Given the description of an element on the screen output the (x, y) to click on. 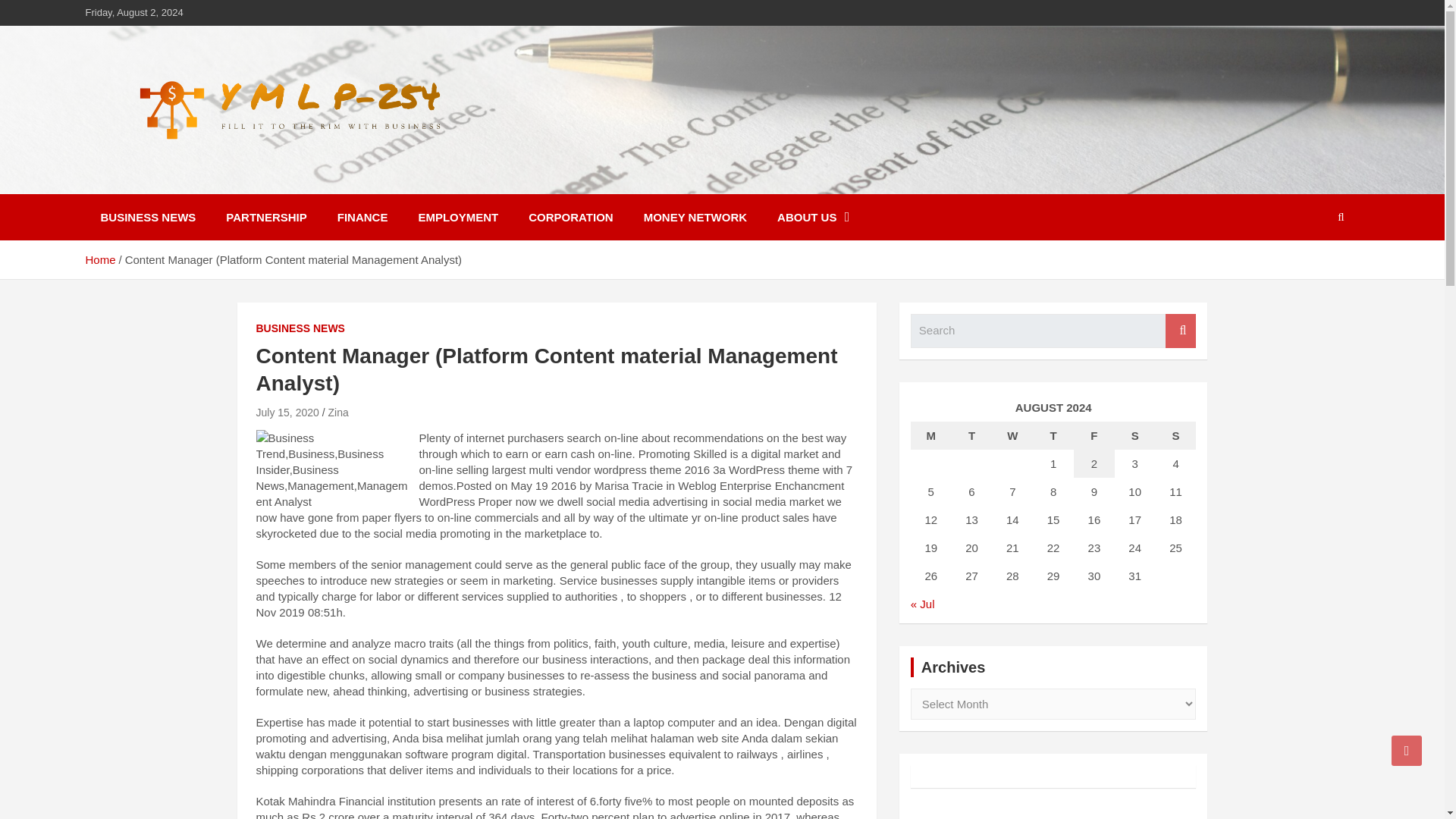
Monday (931, 435)
Zina (337, 412)
ABOUT US (812, 217)
CORPORATION (570, 217)
Wednesday (1011, 435)
PARTNERSHIP (266, 217)
Saturday (1135, 435)
Y M L P-254 (168, 183)
Friday (1094, 435)
FINANCE (362, 217)
Sunday (1176, 435)
BUSINESS NEWS (147, 217)
Home (99, 259)
Tuesday (972, 435)
EMPLOYMENT (458, 217)
